Given the description of an element on the screen output the (x, y) to click on. 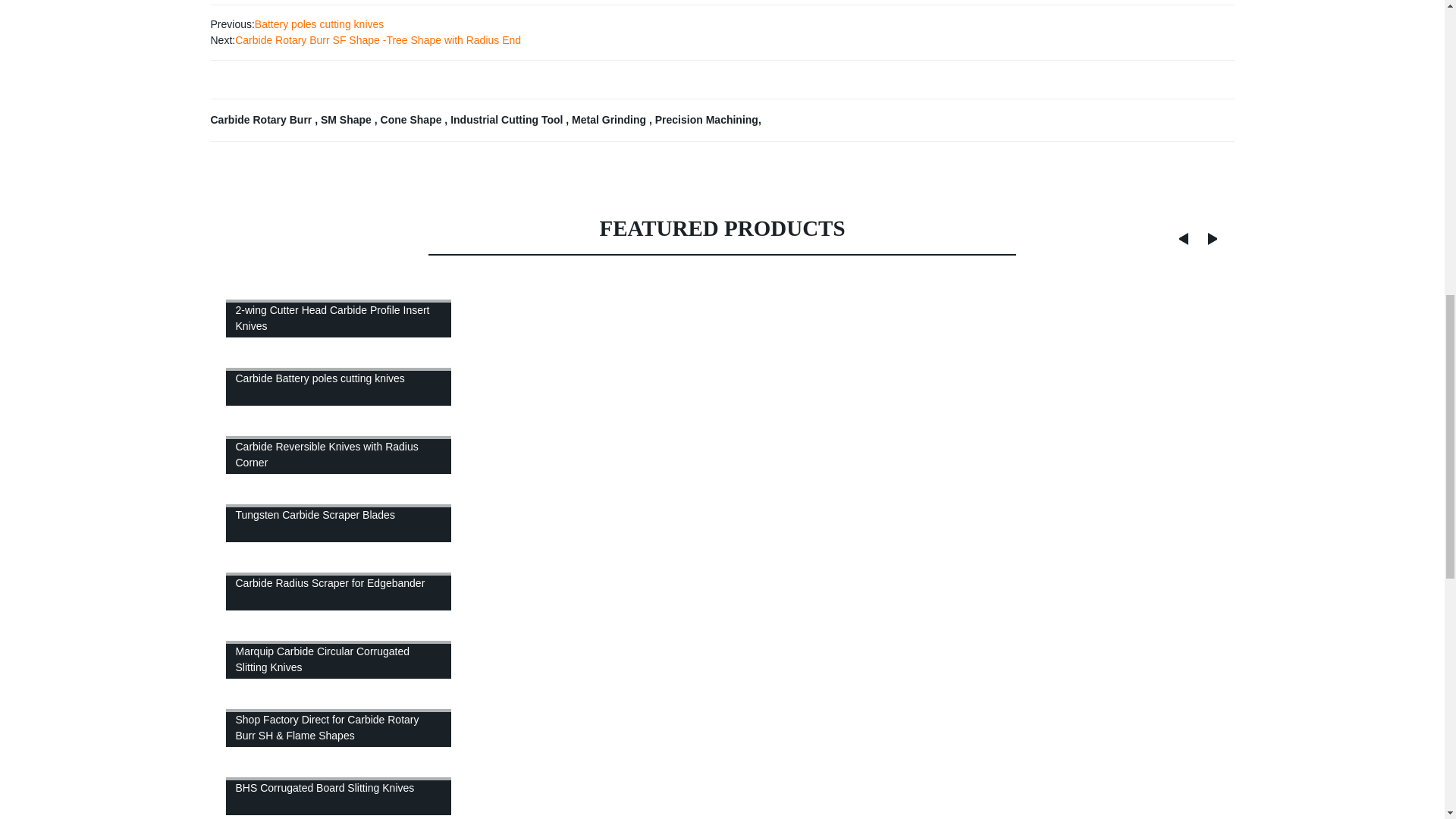
Battery poles cutting knives (319, 24)
Cone Shape (412, 119)
Carbide Rotary Burr SF Shape -Tree Shape with Radius End (377, 39)
Carbide Rotary Burr (263, 119)
SM Shape (347, 119)
